Given the description of an element on the screen output the (x, y) to click on. 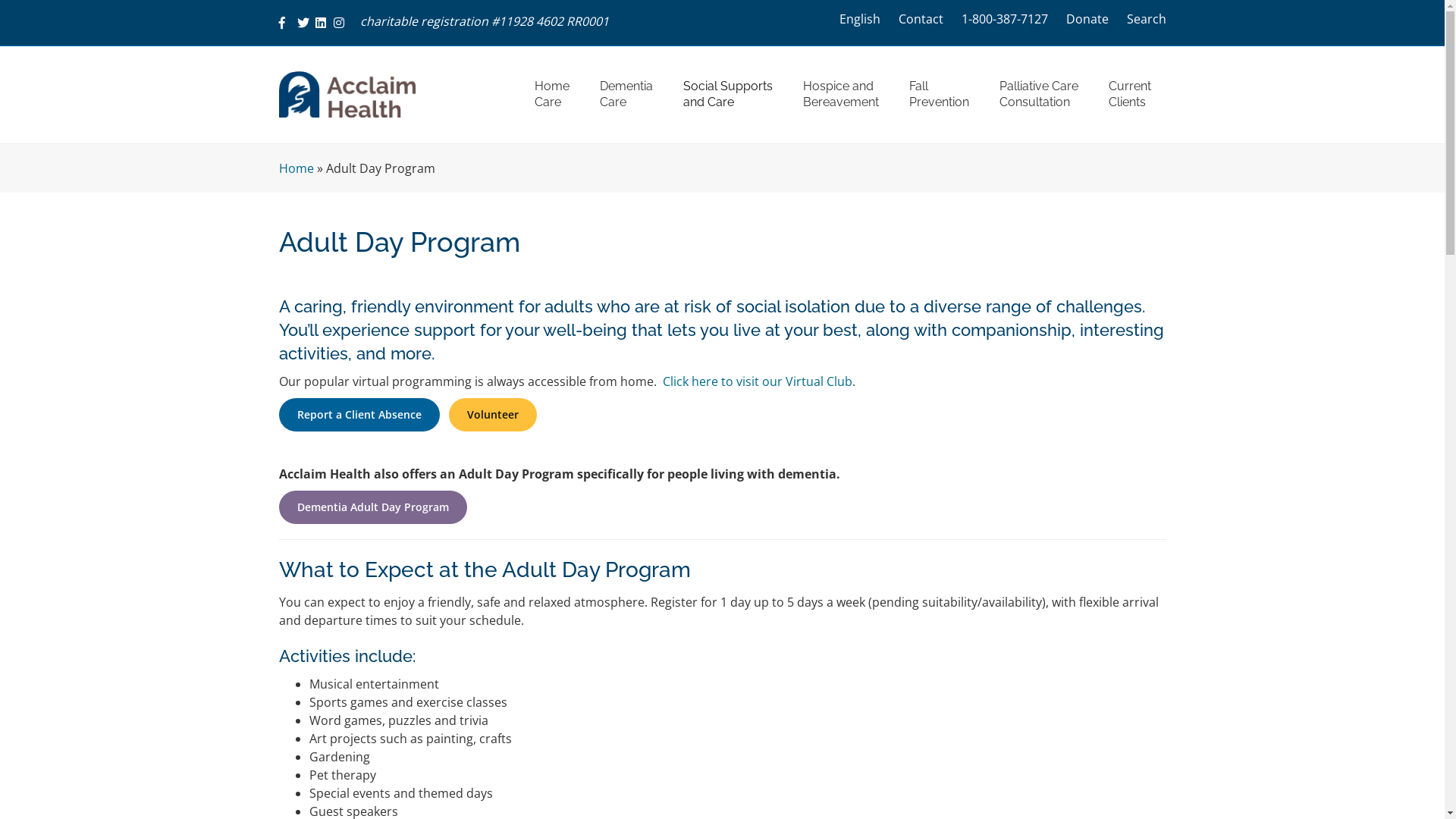
Twitter Element type: text (306, 20)
Hospice and
Bereavement Element type: text (840, 94)
Social Supports
and Care Element type: text (727, 94)
Report a Client Absence Element type: text (359, 414)
Contact Element type: text (920, 18)
Instagram Element type: text (342, 20)
Fall
Prevention Element type: text (938, 94)
Linkedin Element type: text (324, 20)
English Element type: text (859, 18)
Click here to visit our Virtual Club Element type: text (757, 381)
Home Element type: text (296, 168)
Current
Clients Element type: text (1129, 94)
Volunteer Element type: text (492, 414)
Palliative Care
Consultation Element type: text (1038, 94)
Donate Element type: text (1087, 18)
Skip Navigation Element type: text (518, 66)
Facebook Element type: text (288, 20)
Home
Care Element type: text (550, 94)
Dementia Adult Day Program Element type: text (373, 507)
Dementia
Care Element type: text (625, 94)
Search Element type: text (1146, 18)
1-800-387-7127 Element type: text (1004, 18)
